Given the description of an element on the screen output the (x, y) to click on. 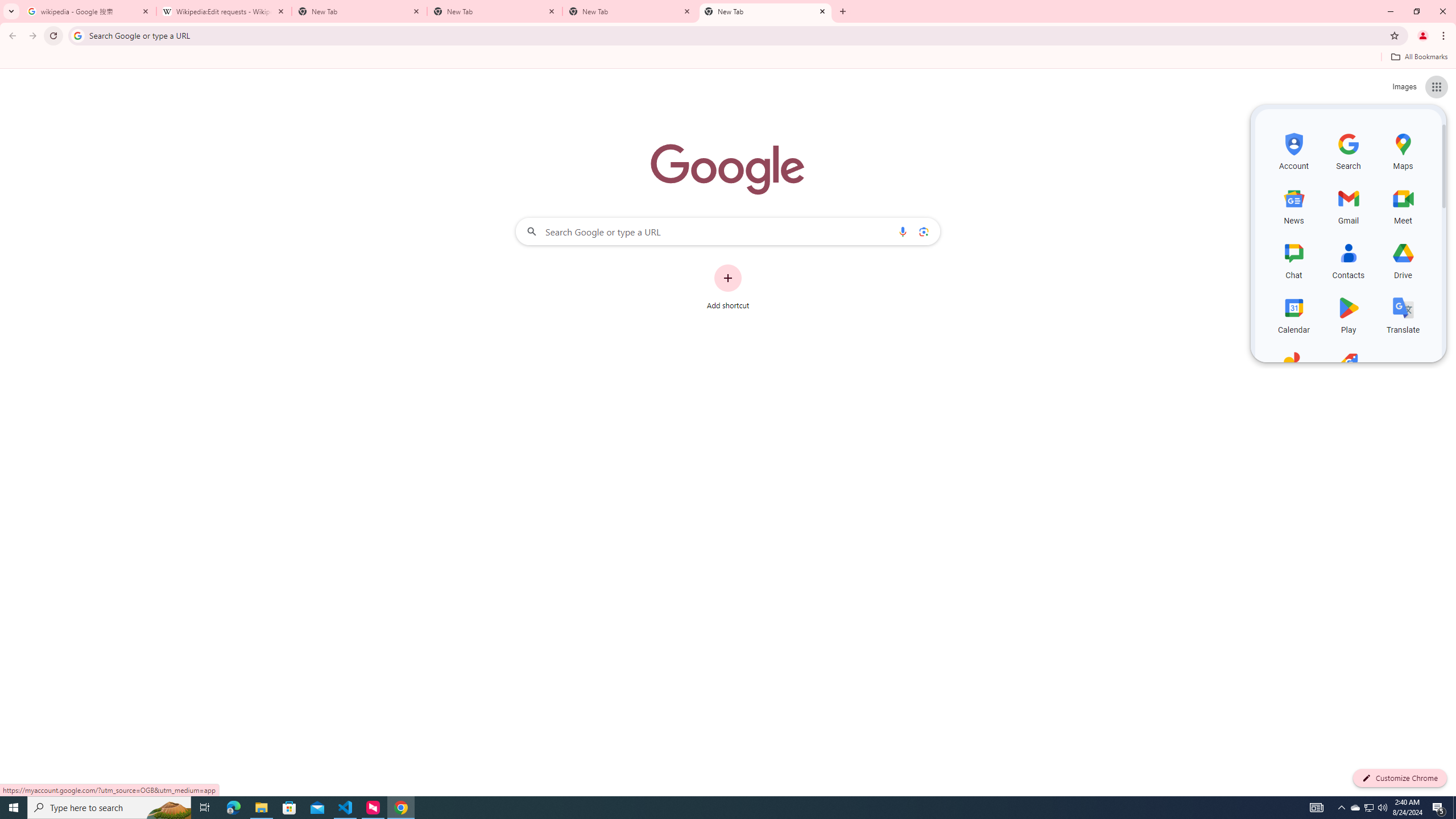
Photos, row 5 of 5 and column 1 of 3 in the first section (1293, 368)
Play, row 4 of 5 and column 2 of 3 in the first section (1348, 313)
Search, row 1 of 5 and column 2 of 3 in the first section (1348, 149)
New Tab (765, 11)
Bookmarks (728, 58)
New Tab (494, 11)
Calendar, row 4 of 5 and column 1 of 3 in the first section (1293, 313)
